Given the description of an element on the screen output the (x, y) to click on. 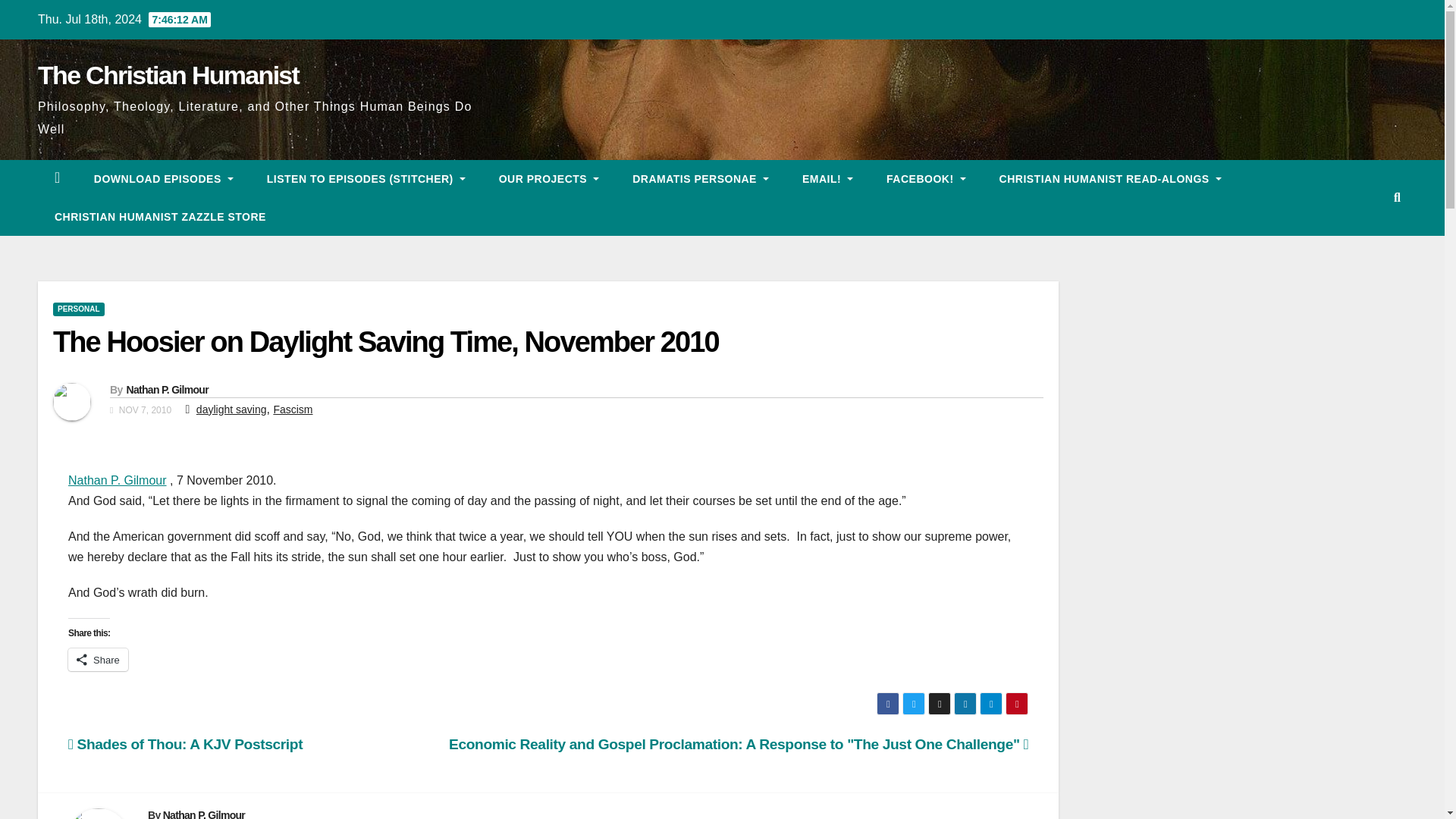
Download Episodes (163, 178)
OUR PROJECTS (548, 178)
DRAMATIS PERSONAE (700, 178)
DOWNLOAD EPISODES (163, 178)
The Christian Humanist (167, 74)
